Given the description of an element on the screen output the (x, y) to click on. 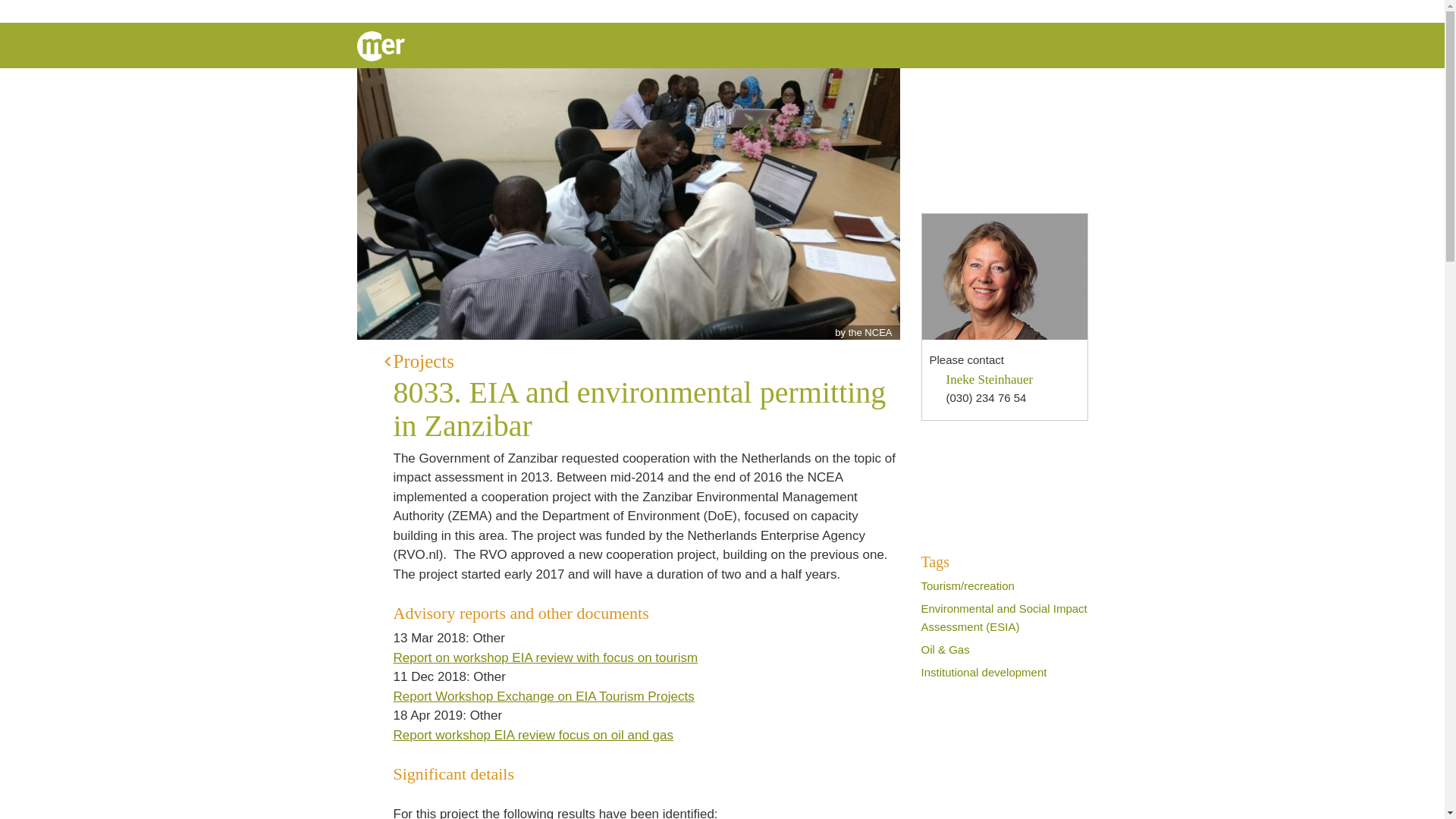
Report Workshop Exchange on EIA Tourism Projects (553, 695)
Report on workshop EIA review with focus on tourism (554, 657)
Ineke Steinhauer (989, 379)
Report workshop EIA review focus on oil and gas (542, 735)
Projects (641, 361)
Institutional development (983, 671)
